Given the description of an element on the screen output the (x, y) to click on. 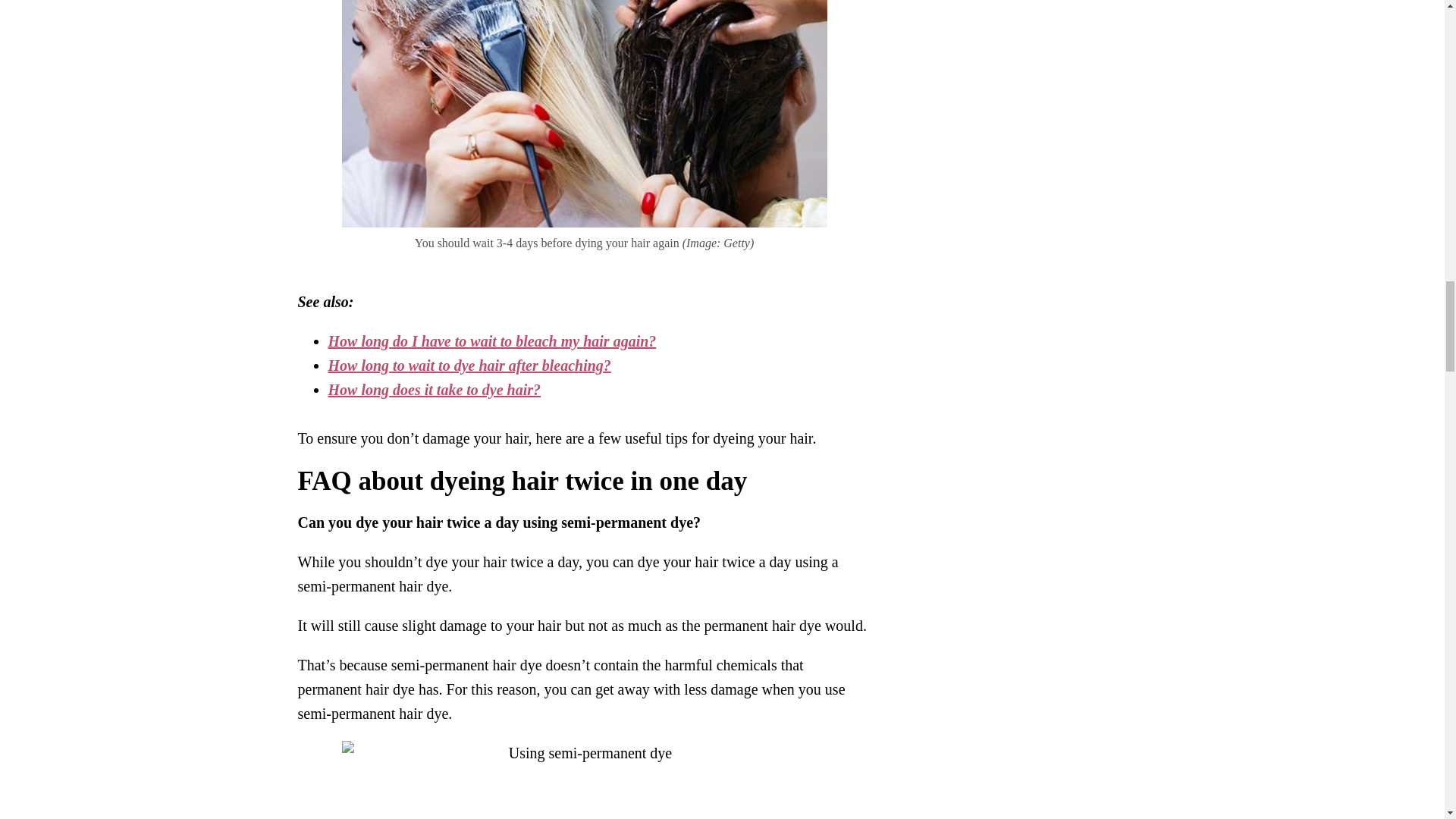
How long to wait to dye hair after bleaching? (468, 365)
How long do I have to wait to bleach my hair again? (491, 340)
How long does it take to dye hair? (433, 389)
